Given the description of an element on the screen output the (x, y) to click on. 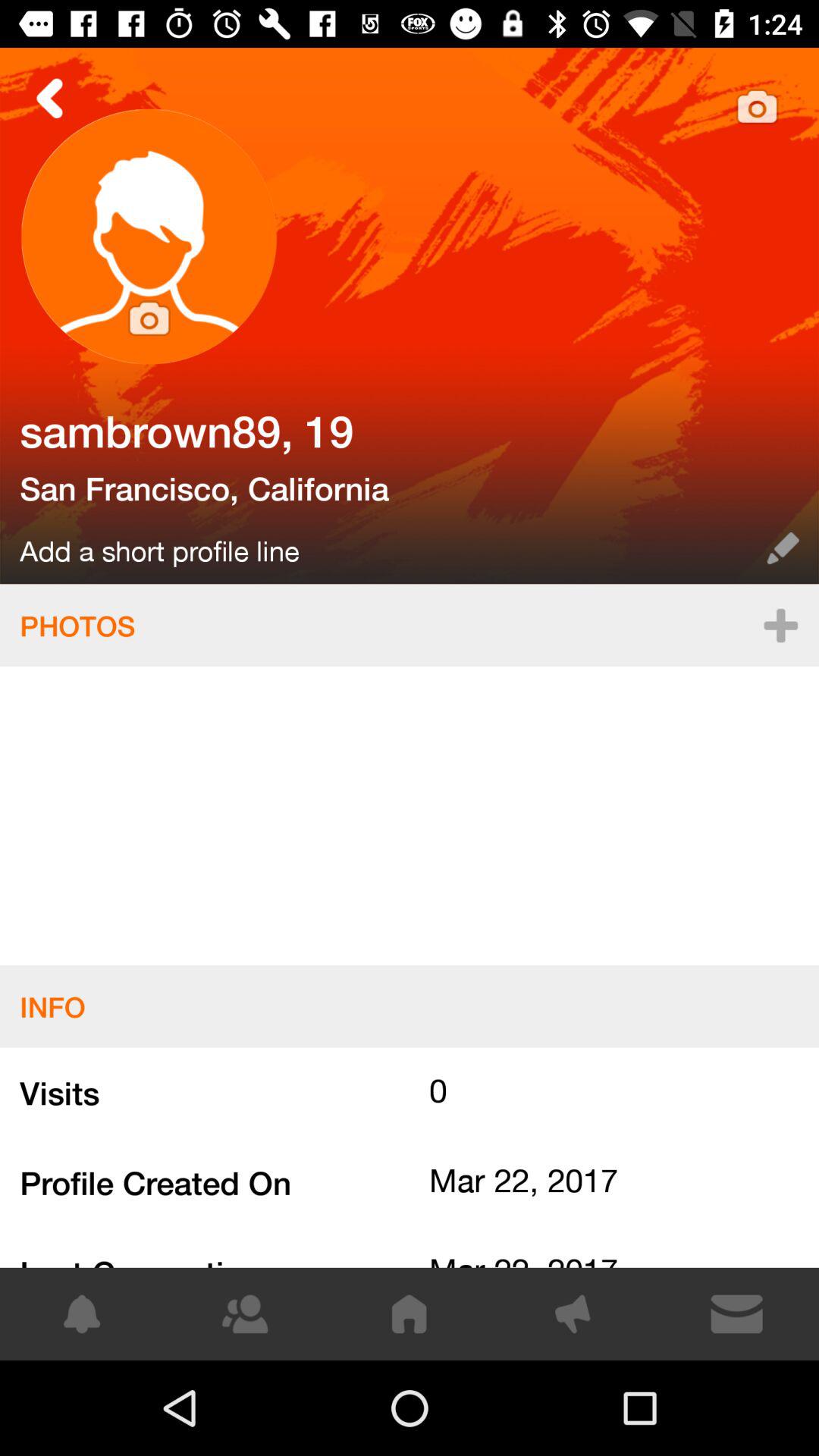
edit (783, 548)
